Given the description of an element on the screen output the (x, y) to click on. 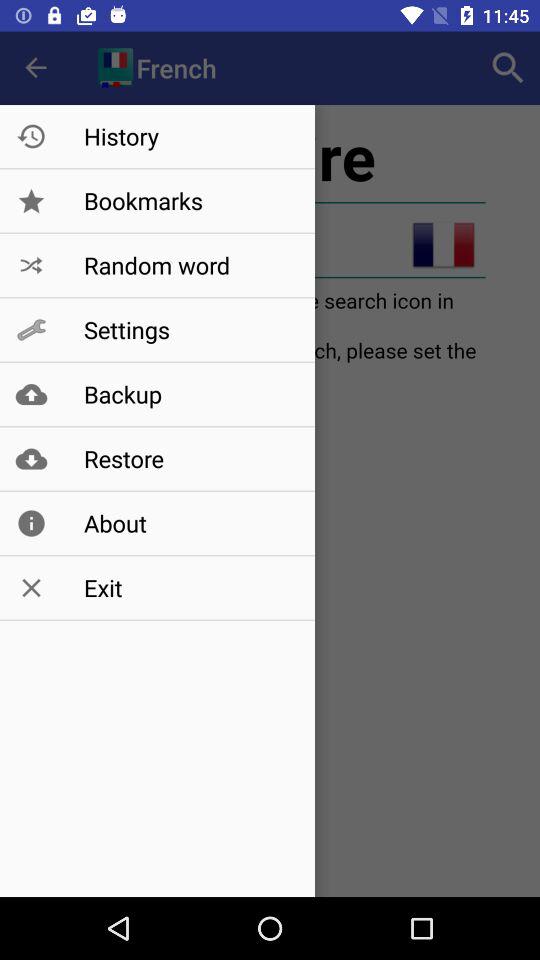
select history item (188, 136)
